Given the description of an element on the screen output the (x, y) to click on. 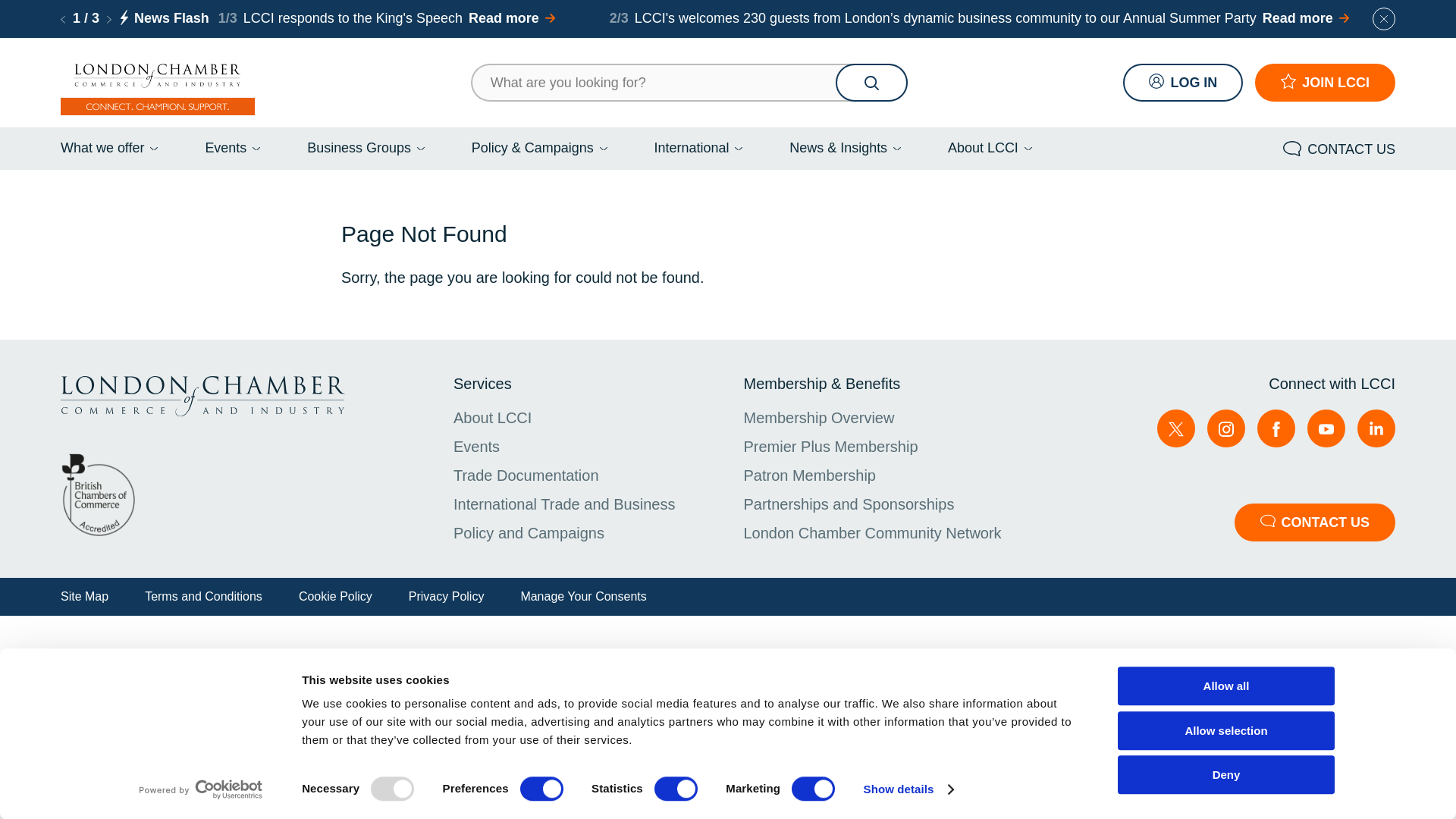
close (1383, 18)
